Given the description of an element on the screen output the (x, y) to click on. 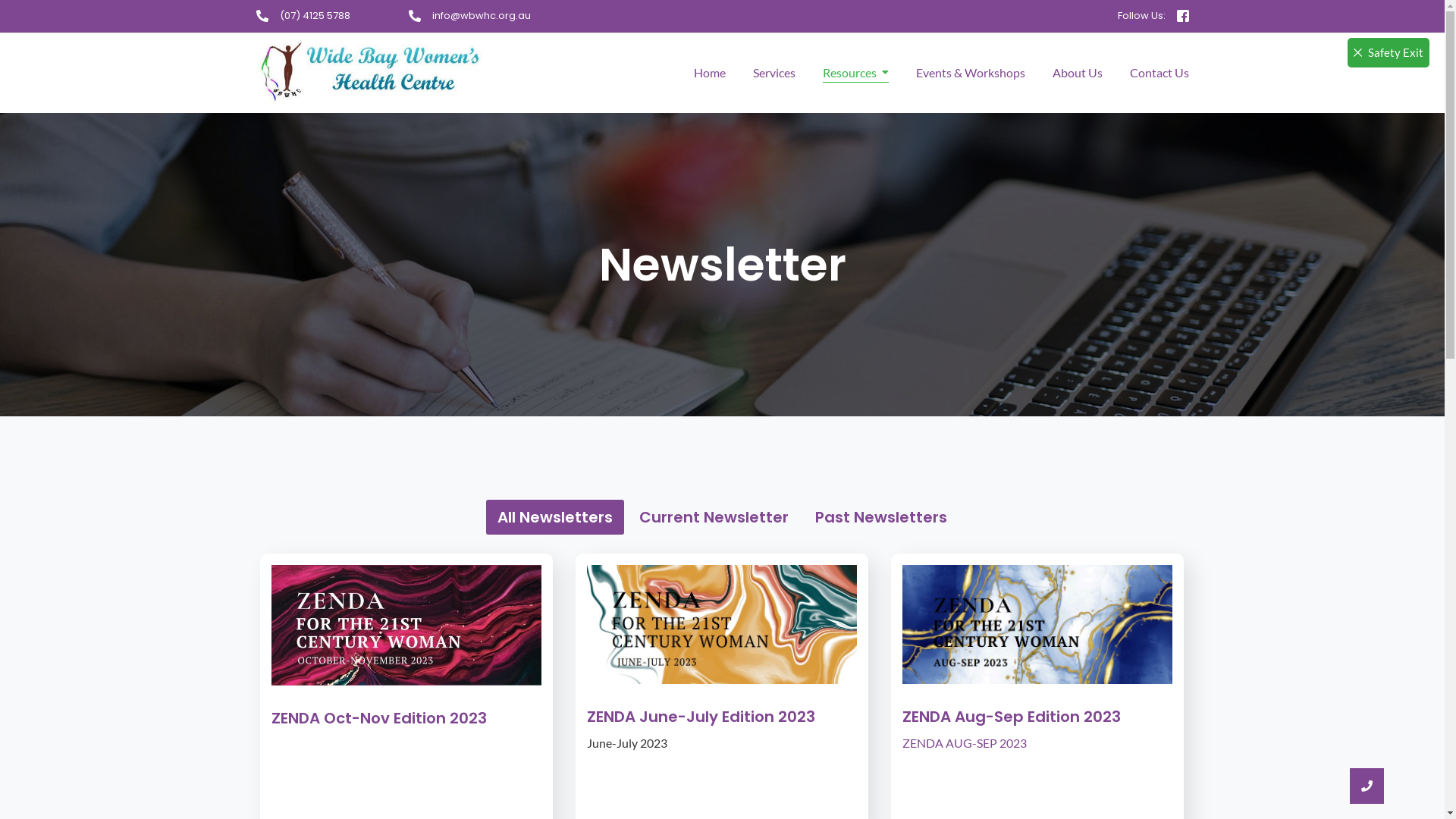
Resources Element type: text (855, 72)
Safety Exit Element type: text (1388, 52)
Services Element type: text (773, 72)
ZENDA Oct-Nov Edition 2023 Element type: text (378, 718)
Follow Us: Element type: text (1141, 15)
Events & Workshops Element type: text (970, 72)
ZENDA AUG-SEP 2023 Element type: text (964, 742)
About Us Element type: text (1077, 72)
ZENDA Aug-Sep Edition 2023 Element type: text (1011, 716)
ZENDA June-July Edition 2023 Element type: text (700, 716)
info@wbwhc.org.au Element type: text (481, 15)
Contact Us Element type: text (1159, 72)
(07) 4125 5788 Element type: text (314, 15)
Home Element type: text (708, 72)
